Given the description of an element on the screen output the (x, y) to click on. 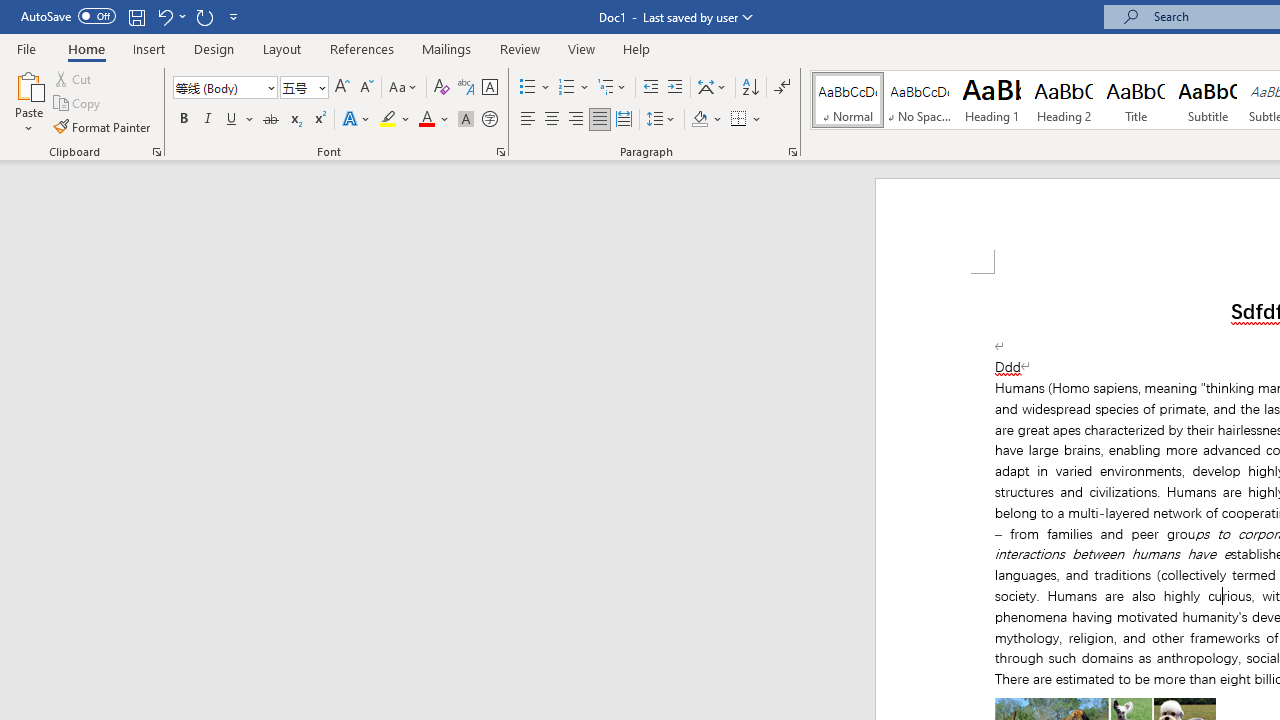
Increase Indent (675, 87)
Shading (706, 119)
Text Effects and Typography (357, 119)
Decrease Indent (650, 87)
Clear Formatting (442, 87)
Align Left (527, 119)
Copy (78, 103)
Italic (207, 119)
Sort... (750, 87)
Grow Font (342, 87)
Bold (183, 119)
Repeat Italic (204, 15)
